Given the description of an element on the screen output the (x, y) to click on. 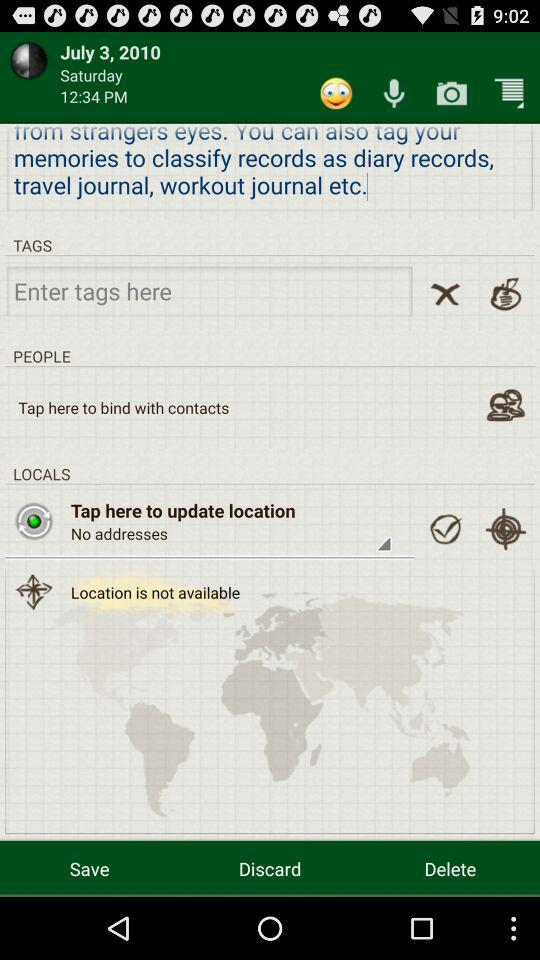
launch item above we all are (336, 92)
